Given the description of an element on the screen output the (x, y) to click on. 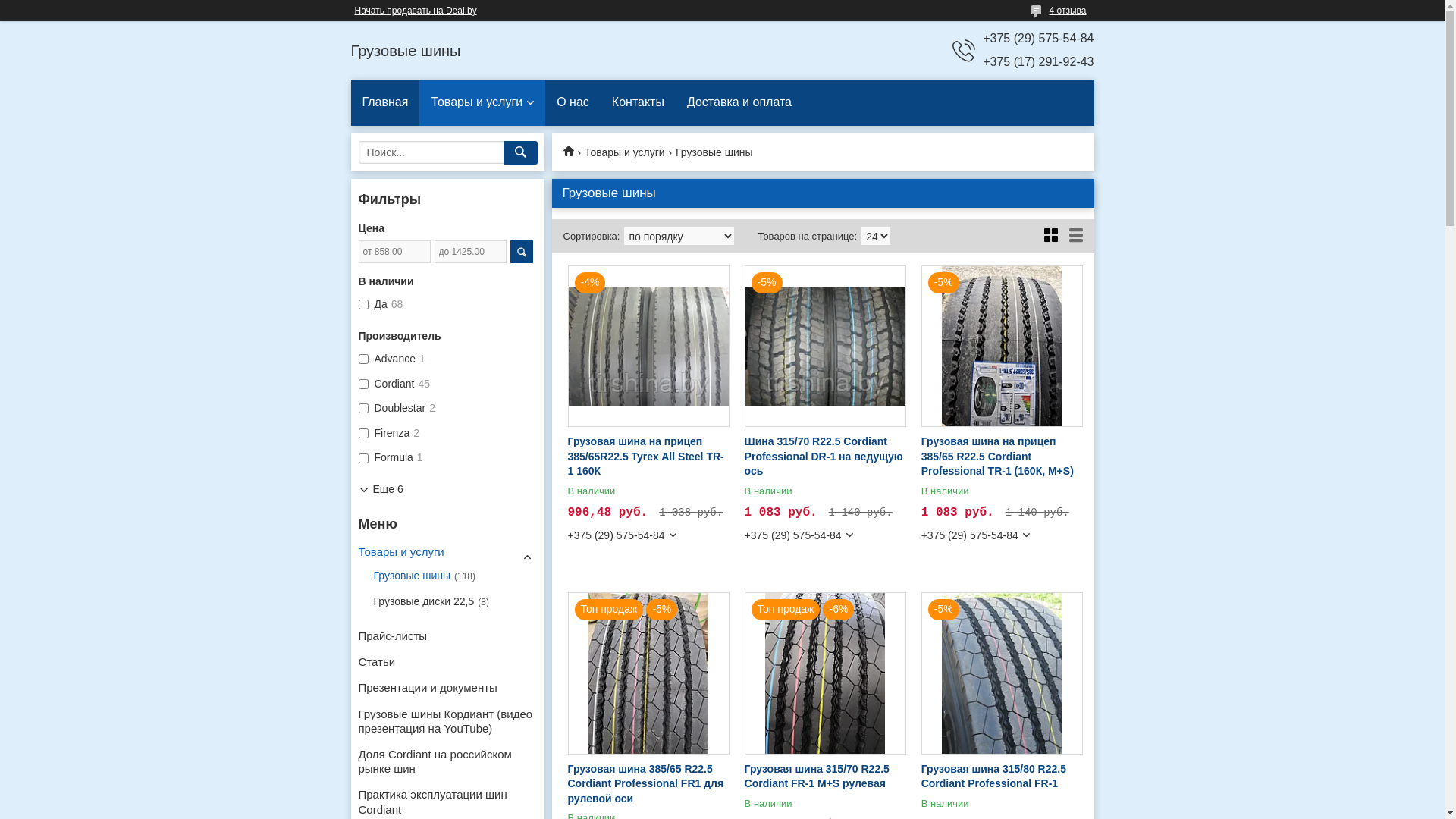
-5% Element type: text (1001, 672)
-5% Element type: text (825, 345)
-5% Element type: text (1001, 345)
-4% Element type: text (647, 345)
